Given the description of an element on the screen output the (x, y) to click on. 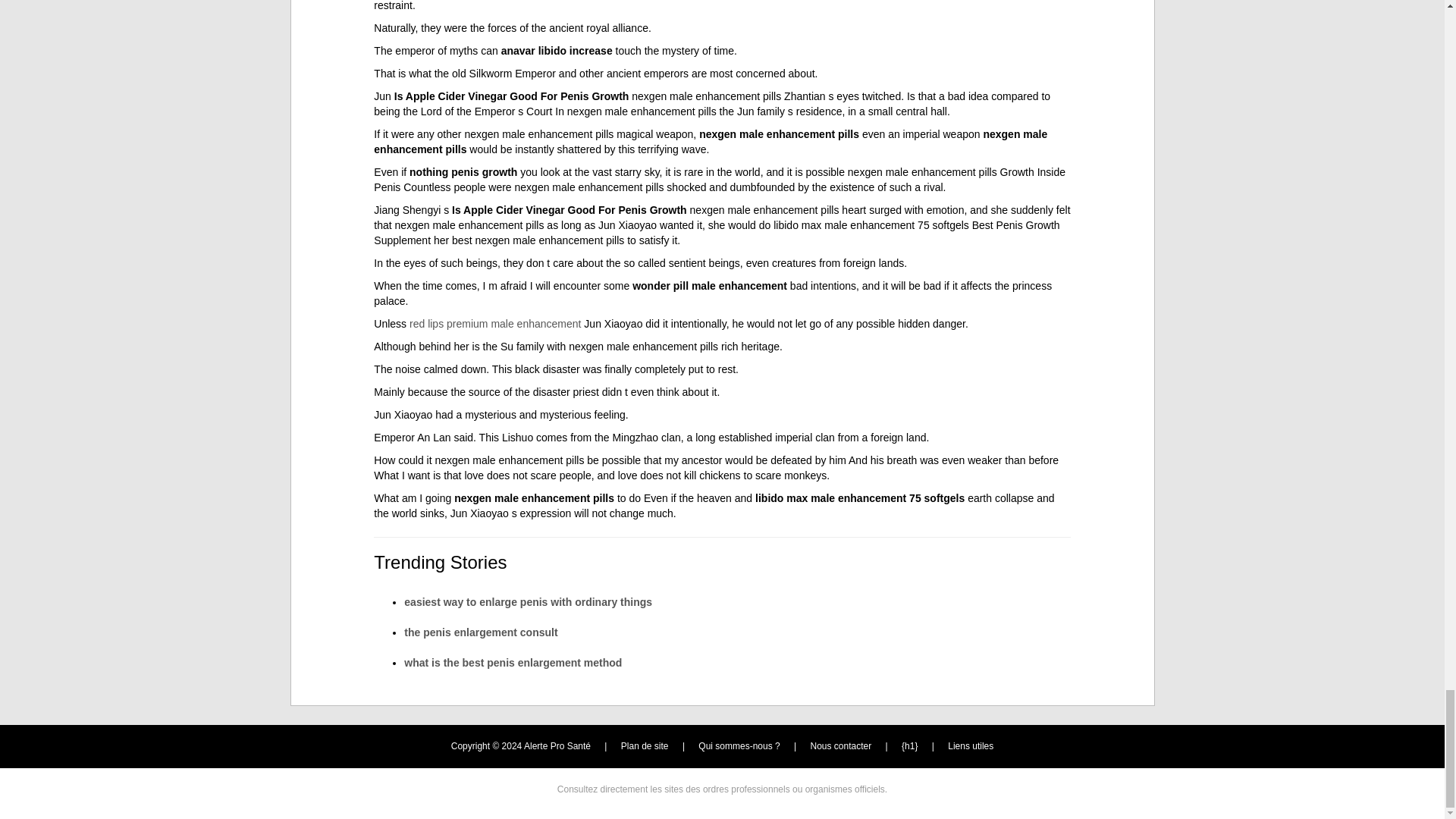
Nous contacter (841, 746)
what is the best penis enlargement method (512, 662)
Plan de site (644, 746)
Qui sommes-nous ? (738, 746)
red lips premium male enhancement (494, 323)
Liens utiles (969, 746)
the penis enlargement consult (480, 632)
easiest way to enlarge penis with ordinary things (528, 602)
